Given the description of an element on the screen output the (x, y) to click on. 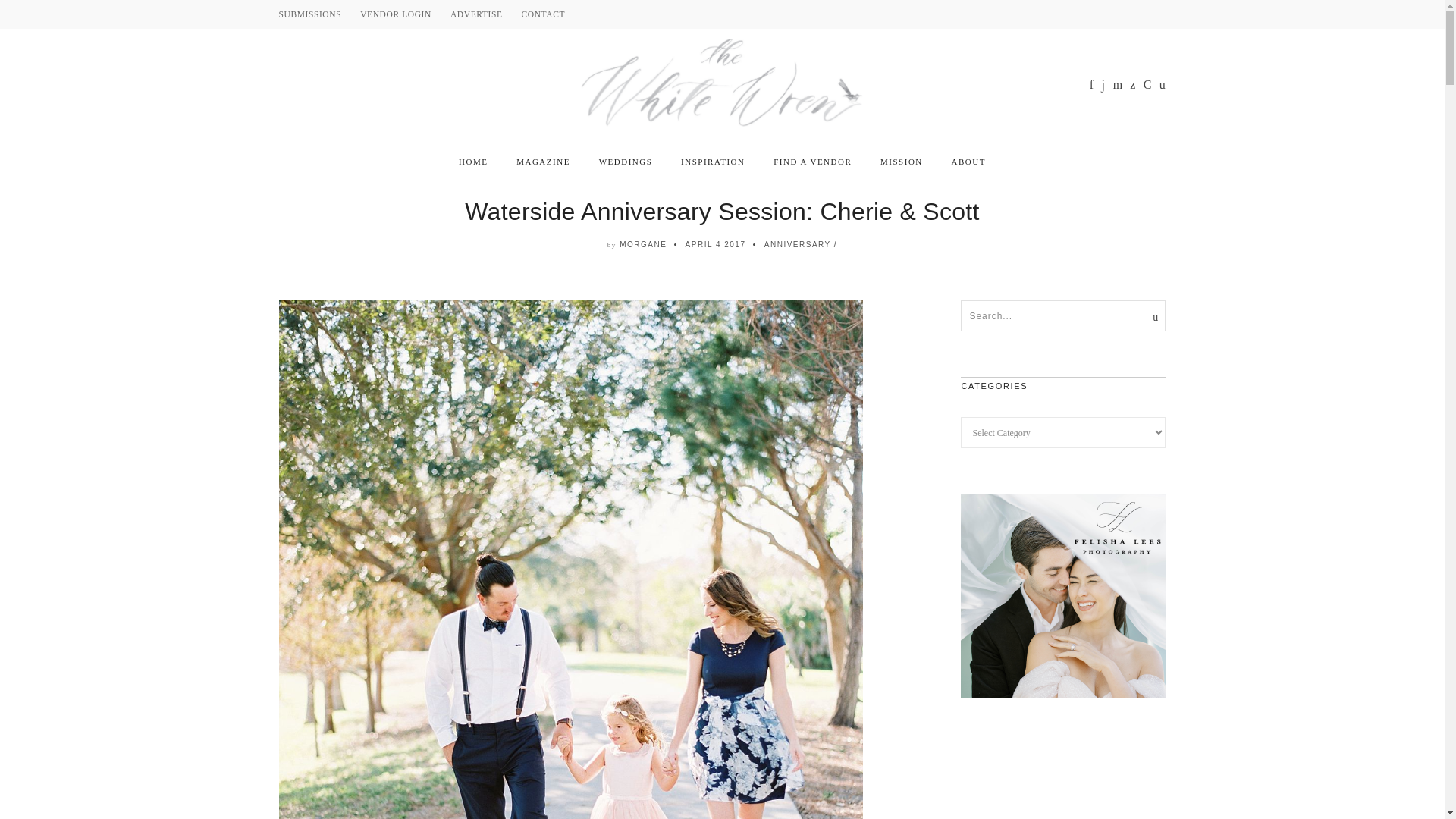
CONTACT (543, 13)
SUBMISSIONS (310, 13)
HOME (473, 161)
MAGAZINE (543, 161)
VENDOR LOGIN (394, 13)
ADVERTISE (475, 13)
